Given the description of an element on the screen output the (x, y) to click on. 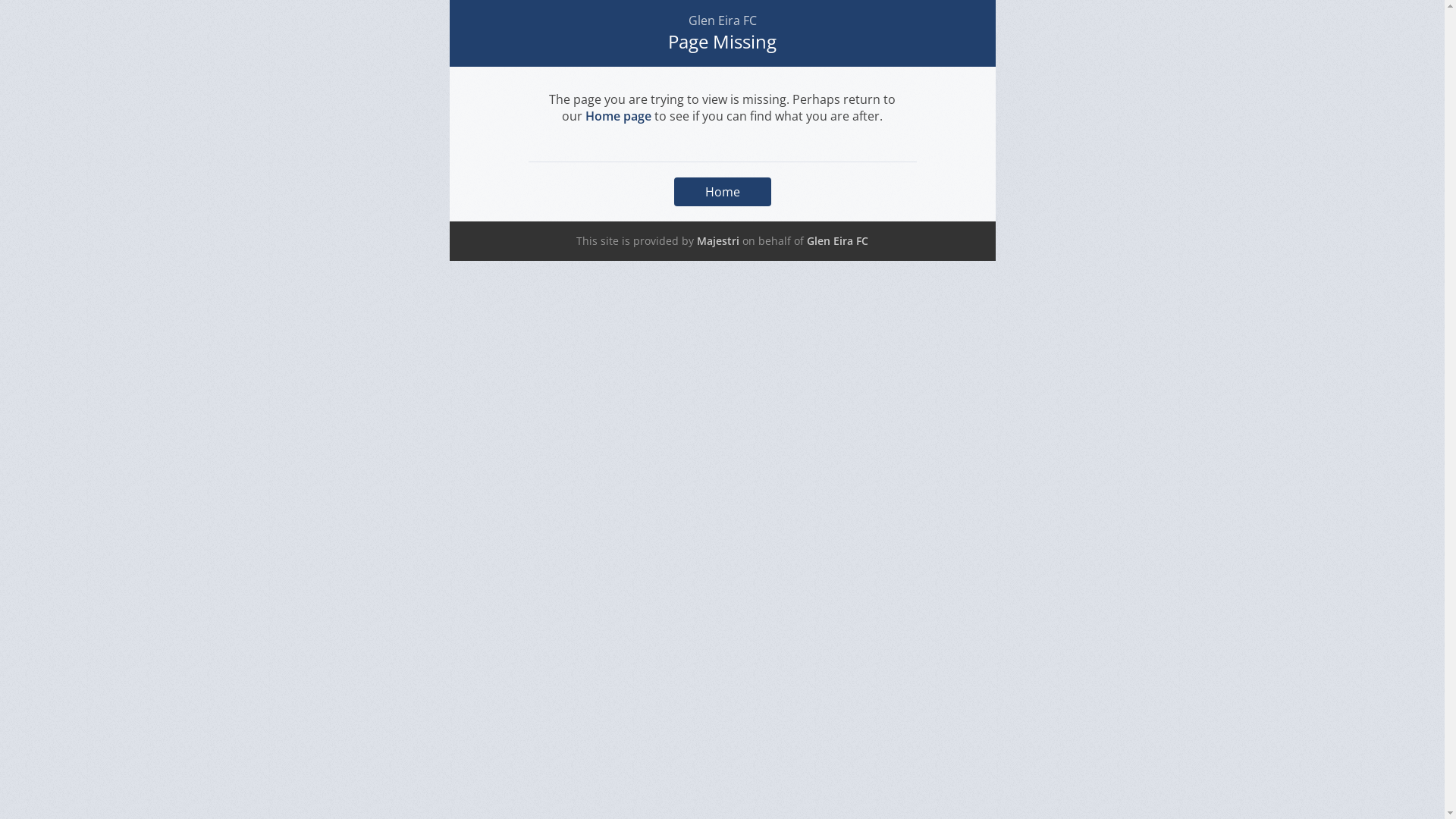
Glen Eira FC Element type: text (837, 240)
Majestri Element type: text (717, 240)
Home Element type: text (721, 191)
Home page Element type: text (618, 115)
